Given the description of an element on the screen output the (x, y) to click on. 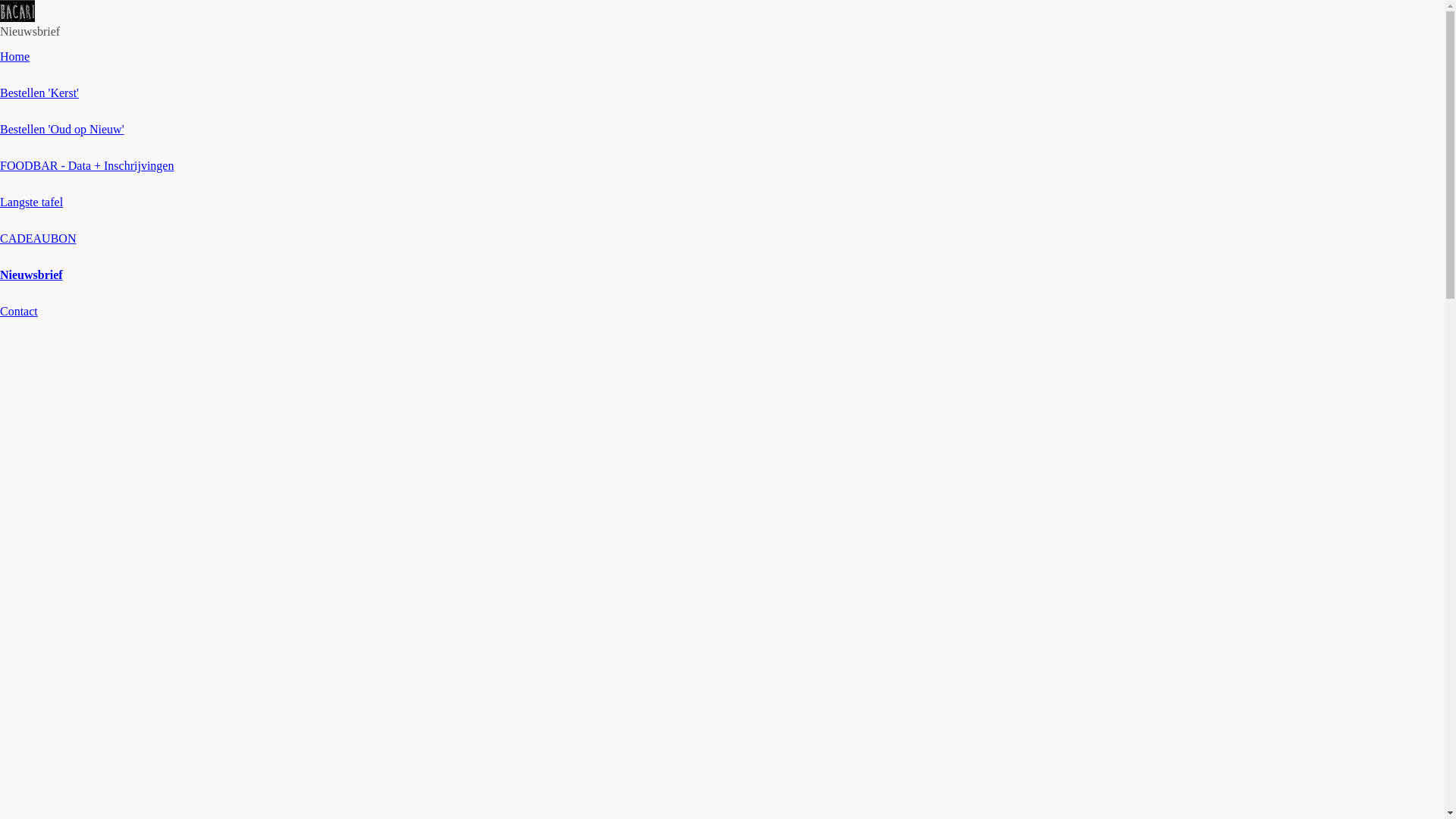
CADEAUBON Element type: text (37, 238)
FOODBAR - Data + Inschrijvingen Element type: text (86, 165)
Nieuwsbrief Element type: text (31, 274)
Bestellen 'Oud op Nieuw' Element type: text (62, 128)
VERSTUUR Element type: text (729, 523)
Bestellen 'Kerst' Element type: text (39, 92)
Langste tafel Element type: text (31, 201)
Contact Element type: text (18, 310)
Home Element type: text (14, 56)
